Given the description of an element on the screen output the (x, y) to click on. 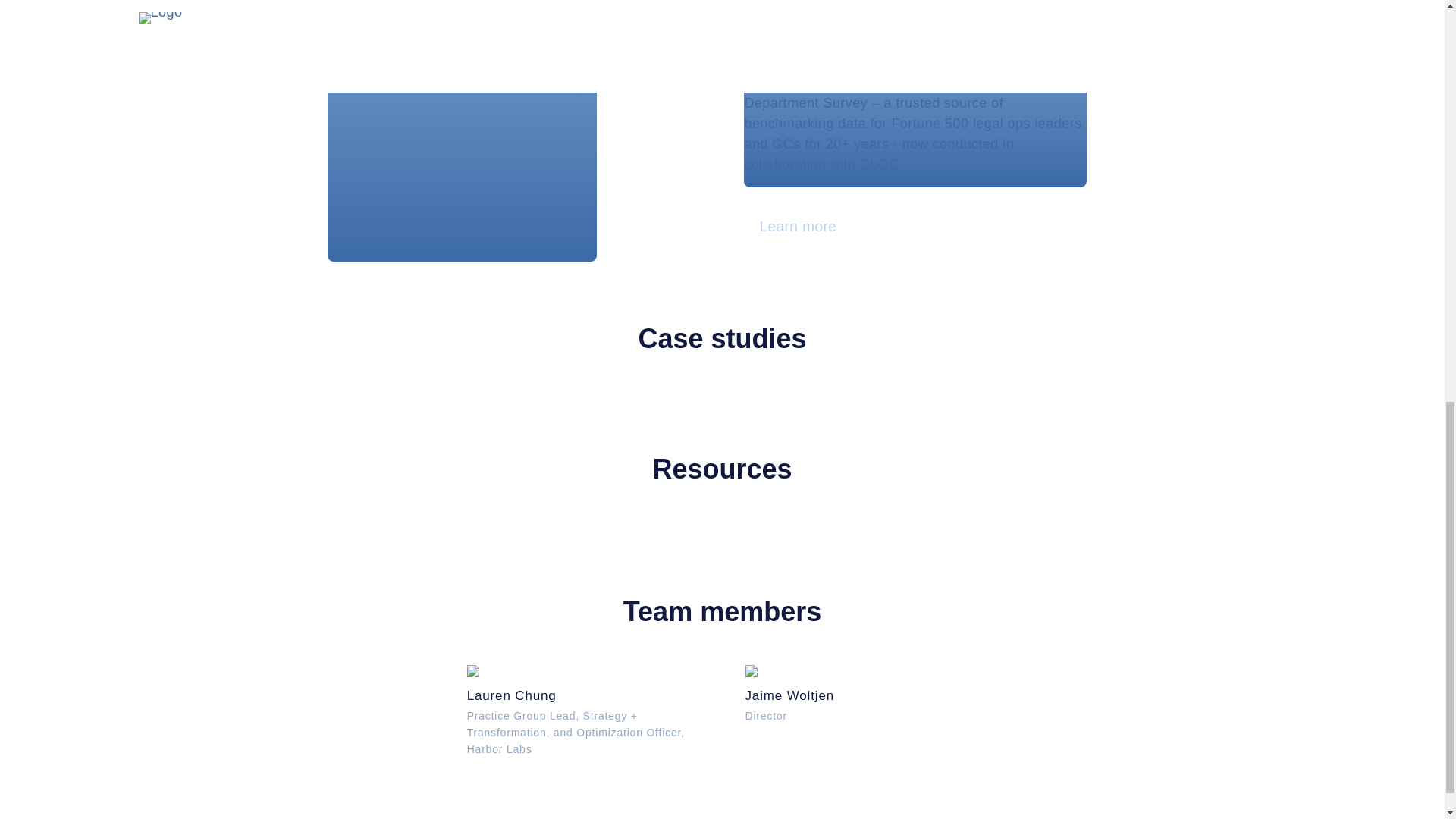
Learn more (860, 694)
